Given the description of an element on the screen output the (x, y) to click on. 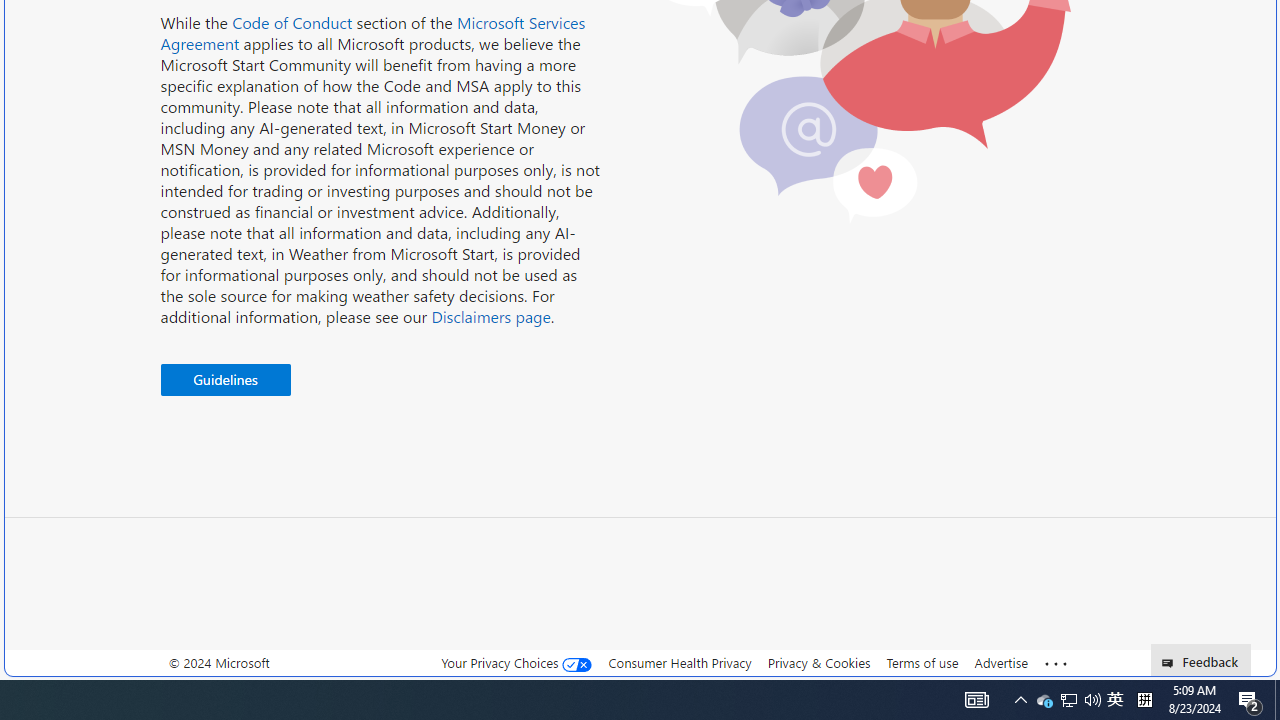
Microsoft Services Agreement (373, 33)
Privacy & Cookies (818, 663)
Your Privacy Choices (516, 662)
Guidelines  (225, 380)
